Given the description of an element on the screen output the (x, y) to click on. 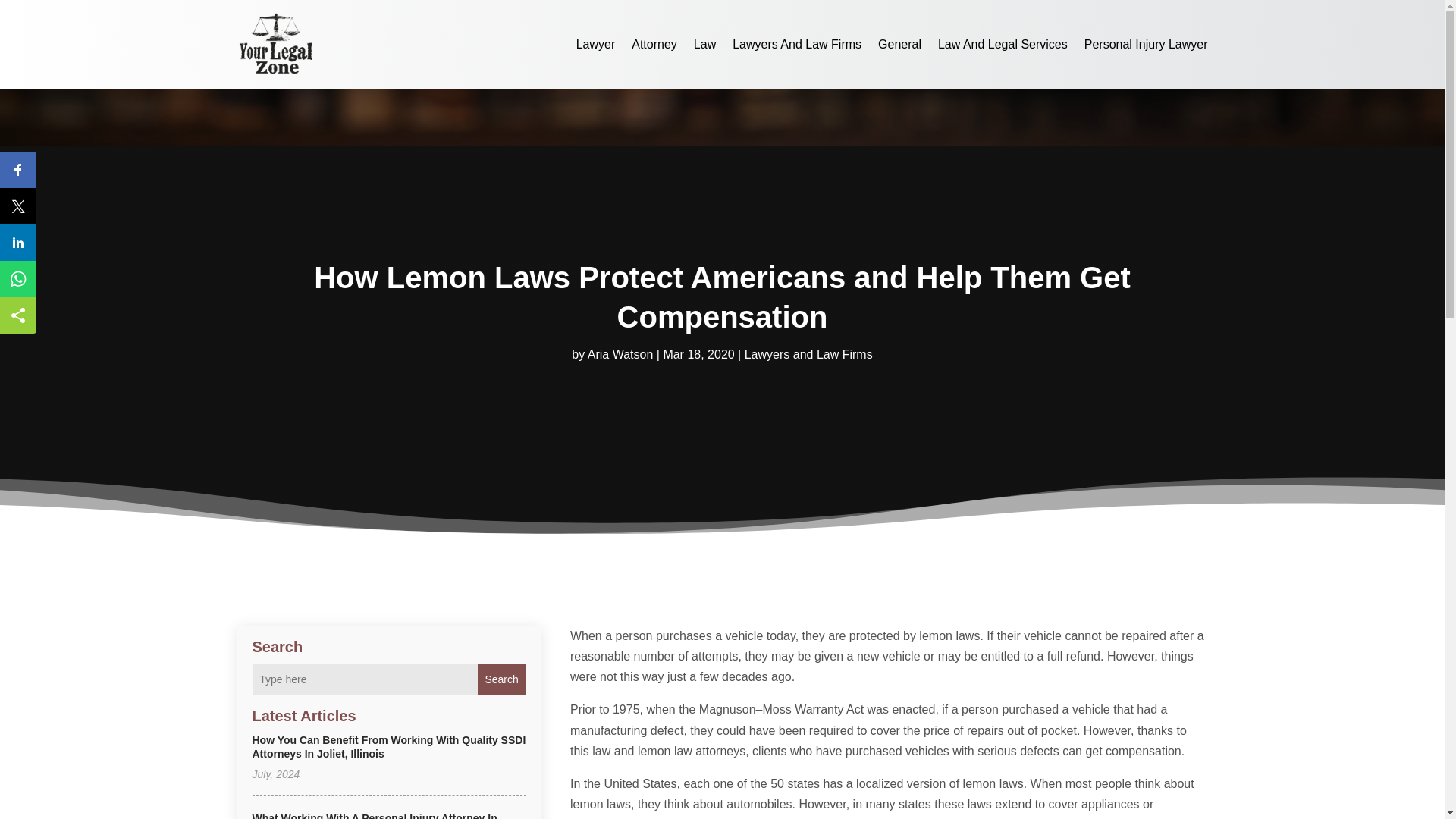
Lawyers And Law Firms (796, 44)
Aria Watson (620, 354)
Law And Legal Services (1002, 44)
Lawyers and Law Firms (808, 354)
Personal Injury Lawyer (1146, 44)
Search (501, 679)
Posts by Aria Watson (620, 354)
